Given the description of an element on the screen output the (x, y) to click on. 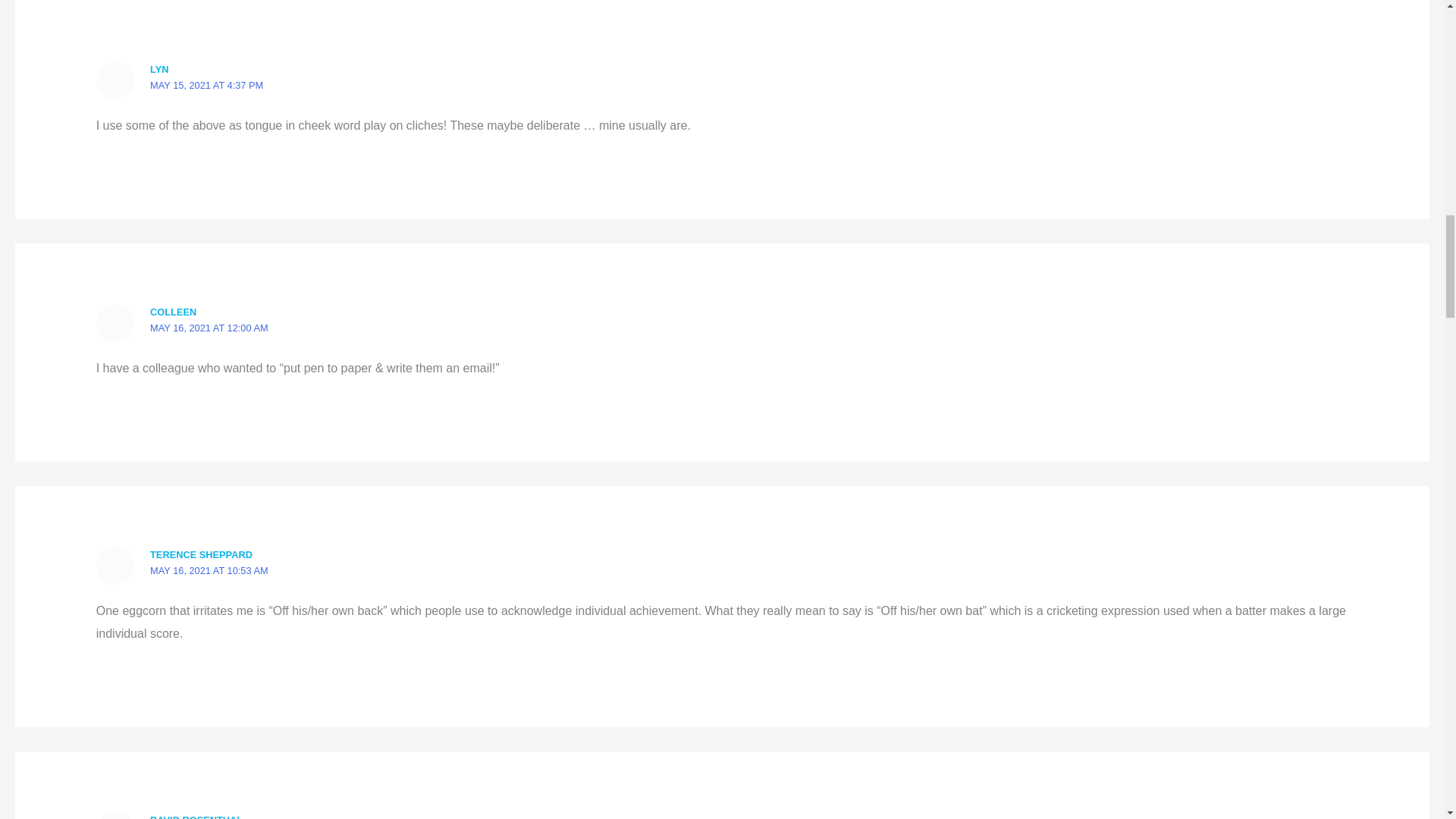
MAY 16, 2021 AT 10:53 AM (208, 570)
MAY 16, 2021 AT 12:00 AM (208, 327)
MAY 15, 2021 AT 4:37 PM (206, 84)
